Given the description of an element on the screen output the (x, y) to click on. 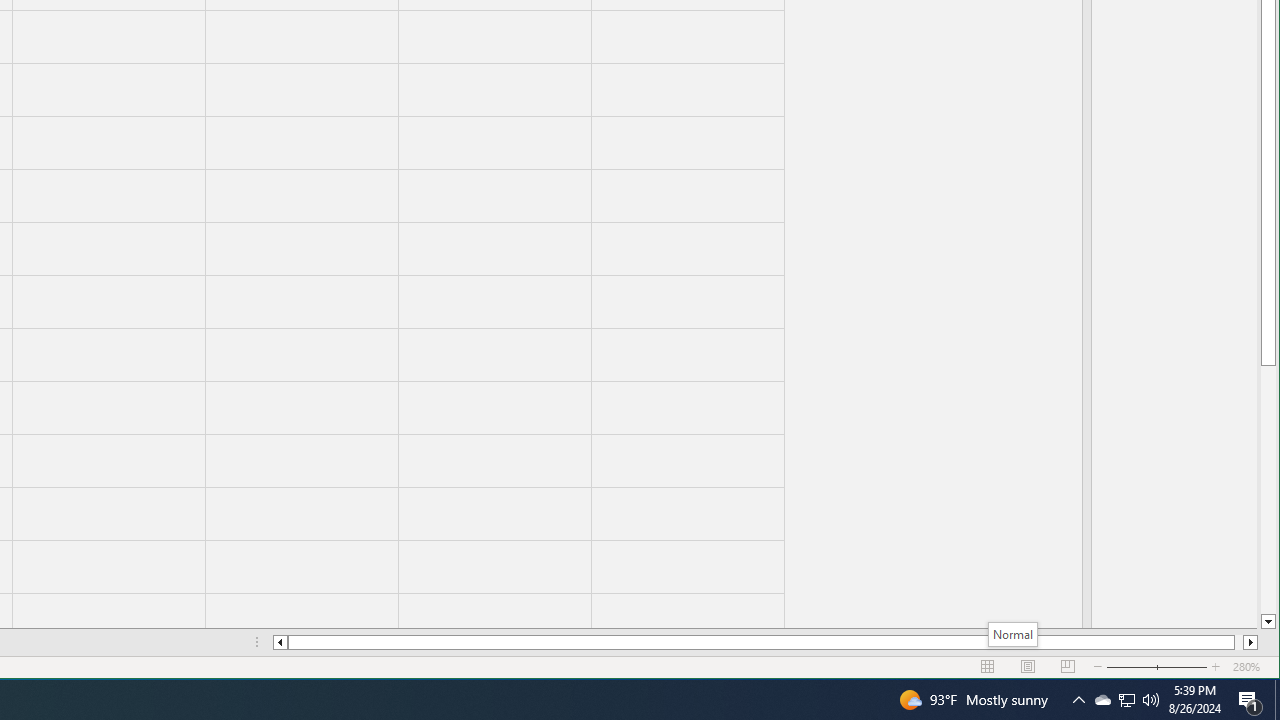
Q2790: 100% (1102, 699)
Class: NetUIScrollBar (1151, 699)
Page Break Preview (765, 642)
